Given the description of an element on the screen output the (x, y) to click on. 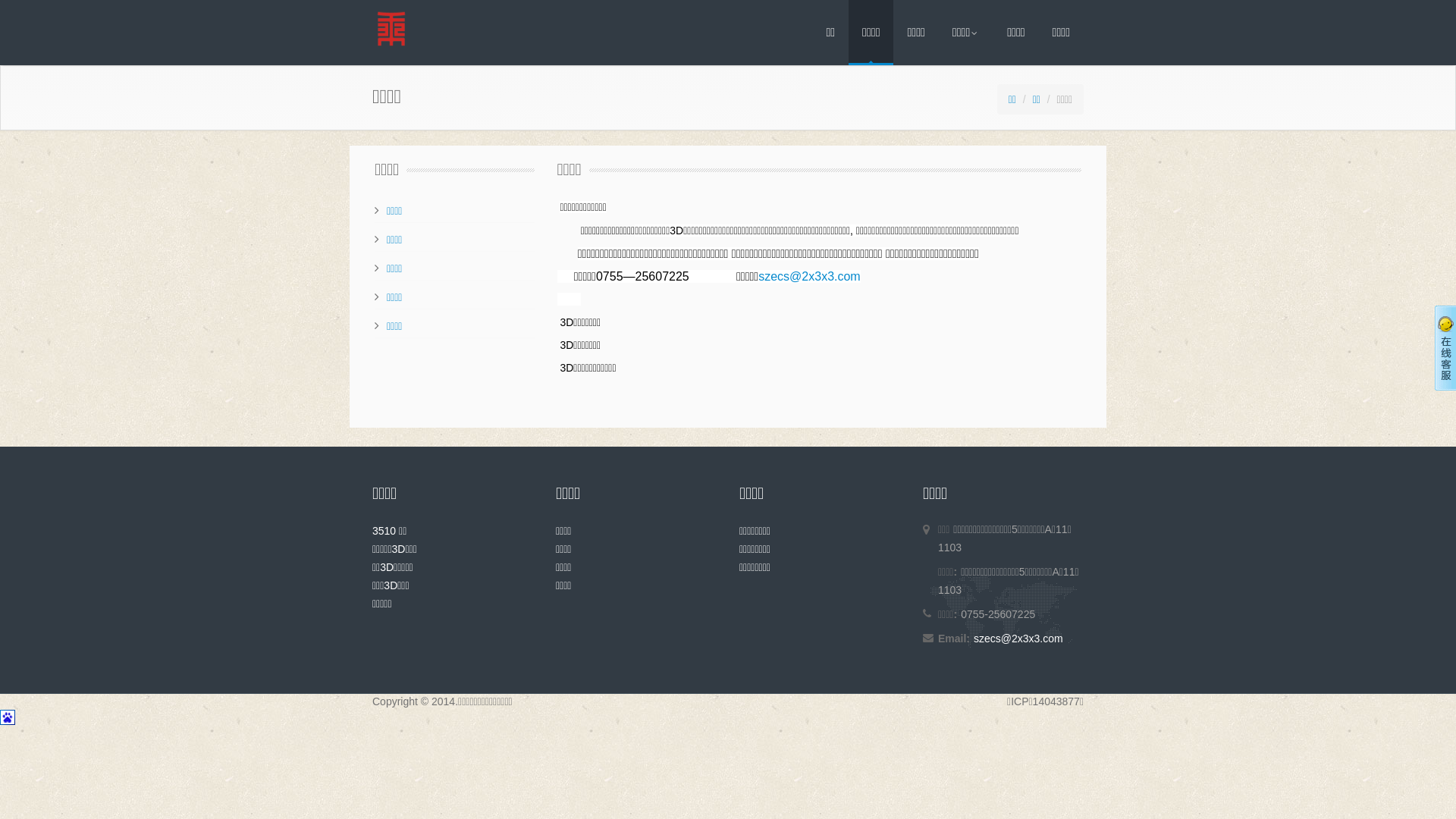
szecs@2x3x3.com Element type: text (809, 275)
szecs@2x3x3.com Element type: text (1018, 638)
